Given the description of an element on the screen output the (x, y) to click on. 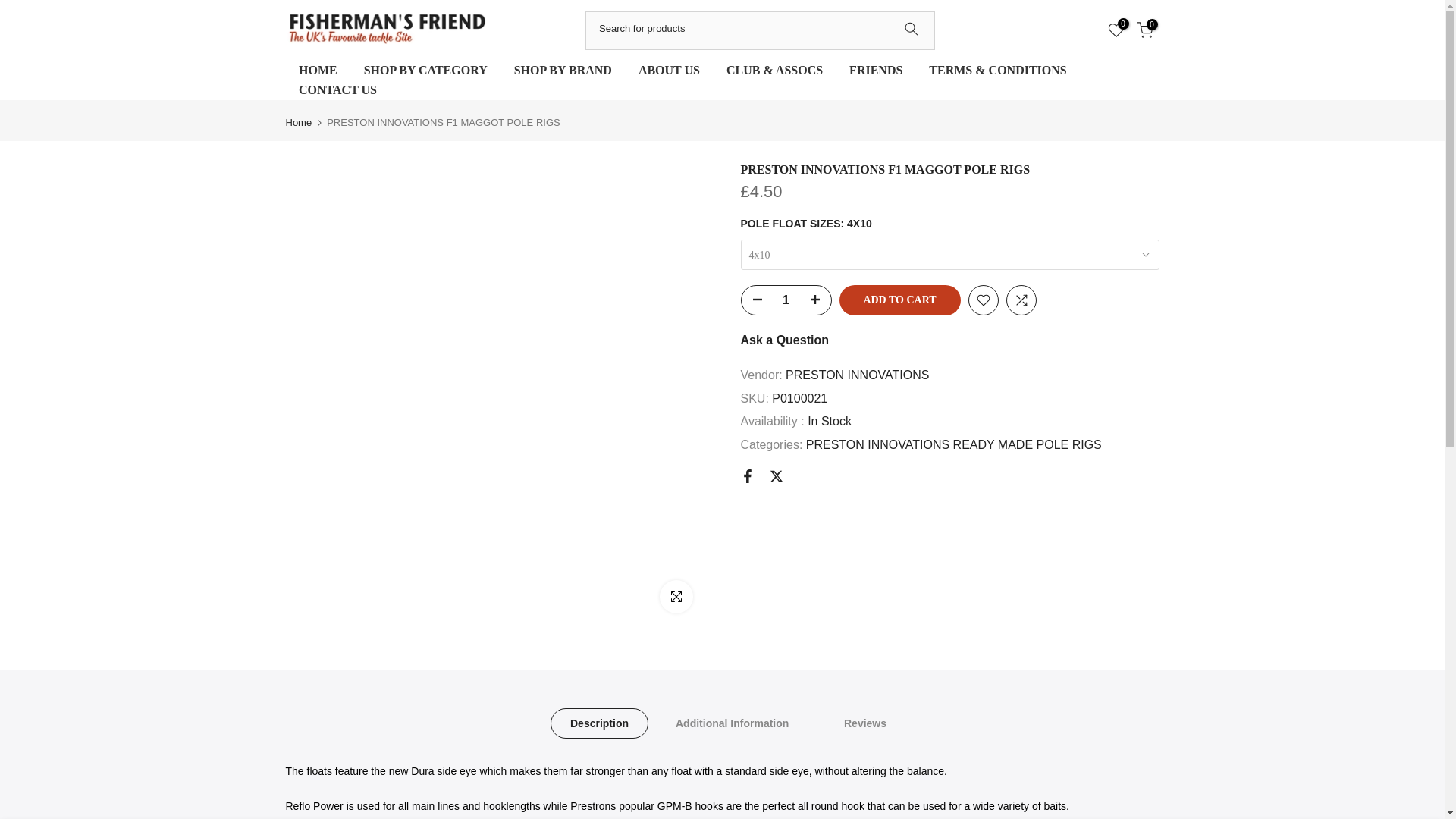
HOME (317, 70)
Skip to content (10, 7)
SHOP BY CATEGORY (425, 70)
Share on Twitter (775, 476)
PRESTON INNOVATIONS READY MADE POLE RIGS (954, 444)
Ask a Question (783, 339)
Share on Facebook (746, 476)
SHOP BY BRAND (562, 70)
ABOUT US (668, 70)
Home (298, 122)
Reviews (864, 723)
PRESTON INNOVATIONS (857, 374)
Additional Information (731, 723)
Description (598, 723)
CONTACT US (337, 89)
